Given the description of an element on the screen output the (x, y) to click on. 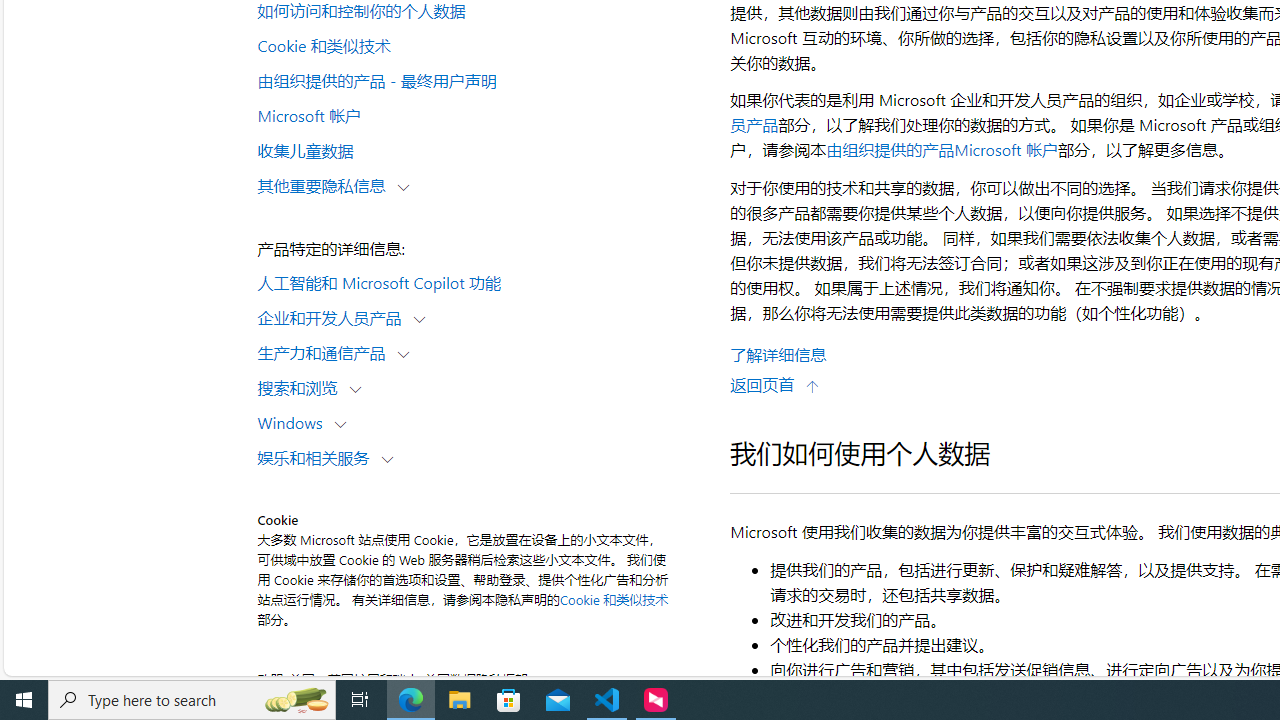
Windows (294, 421)
